Given the description of an element on the screen output the (x, y) to click on. 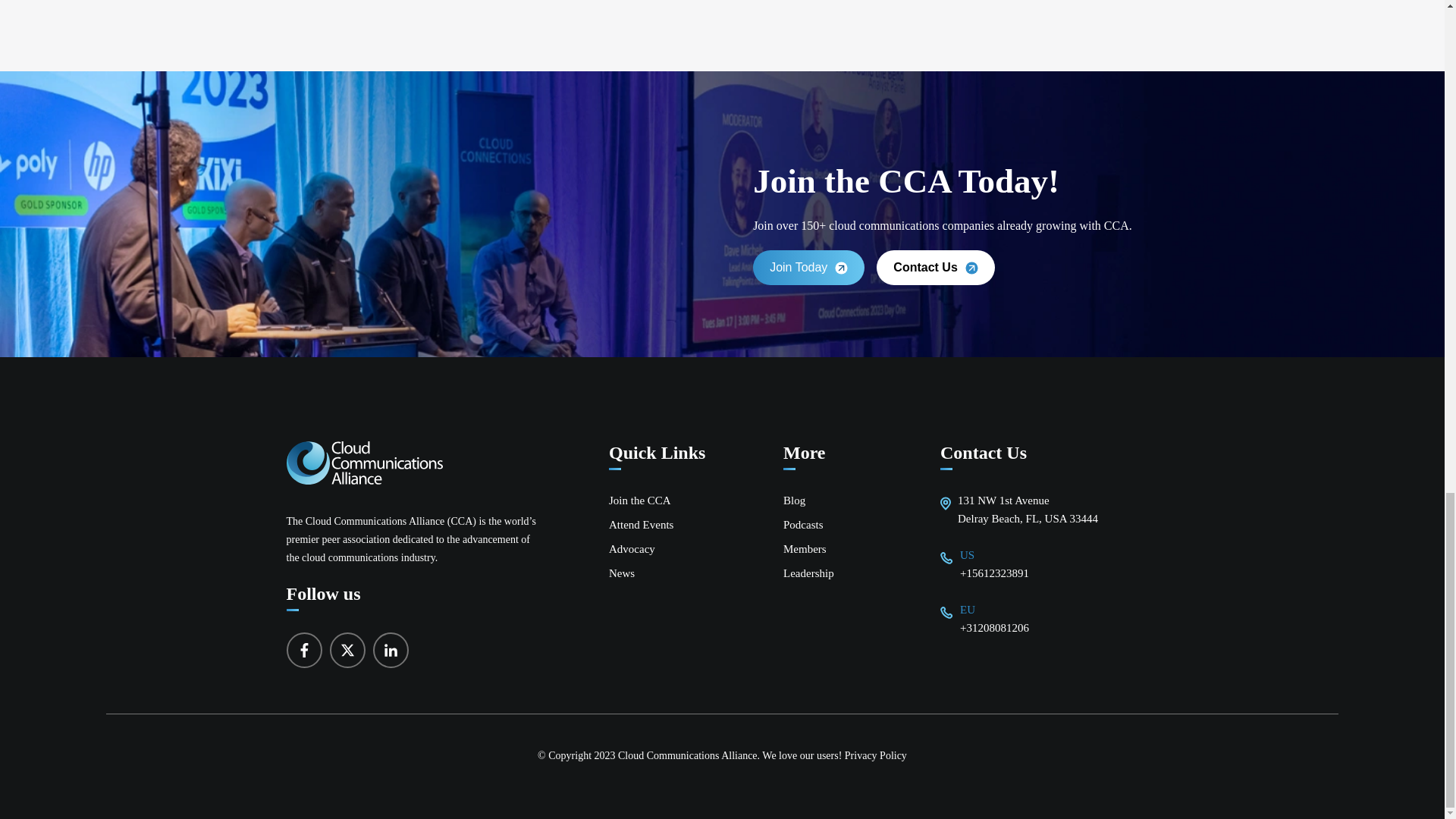
Join Today (808, 267)
Attend Events (640, 524)
Contact Us (935, 267)
News (621, 573)
Blog (794, 500)
Advocacy (631, 548)
ccalogo (364, 462)
Join the CCA (639, 500)
